Given the description of an element on the screen output the (x, y) to click on. 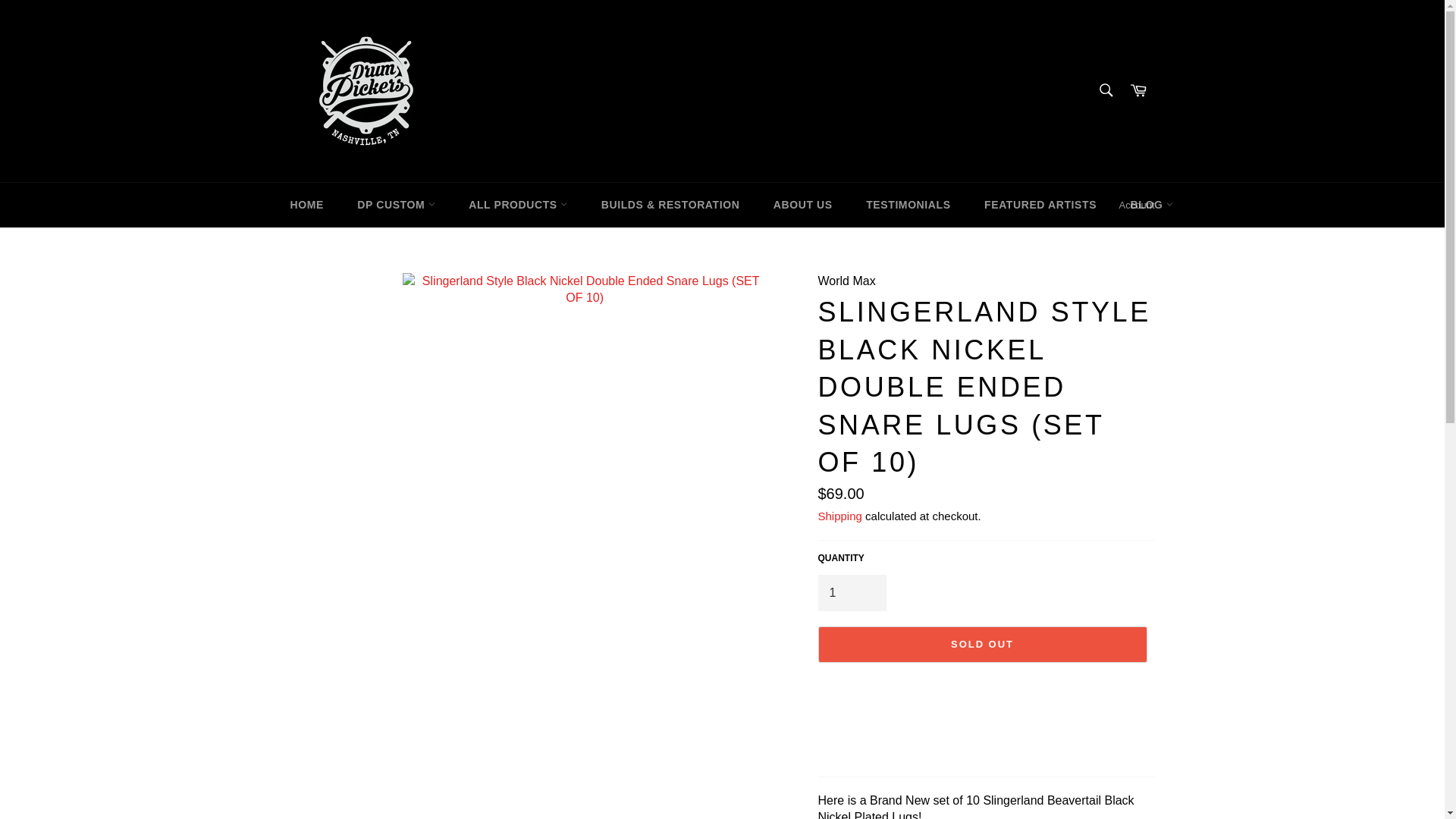
1 (850, 592)
